Given the description of an element on the screen output the (x, y) to click on. 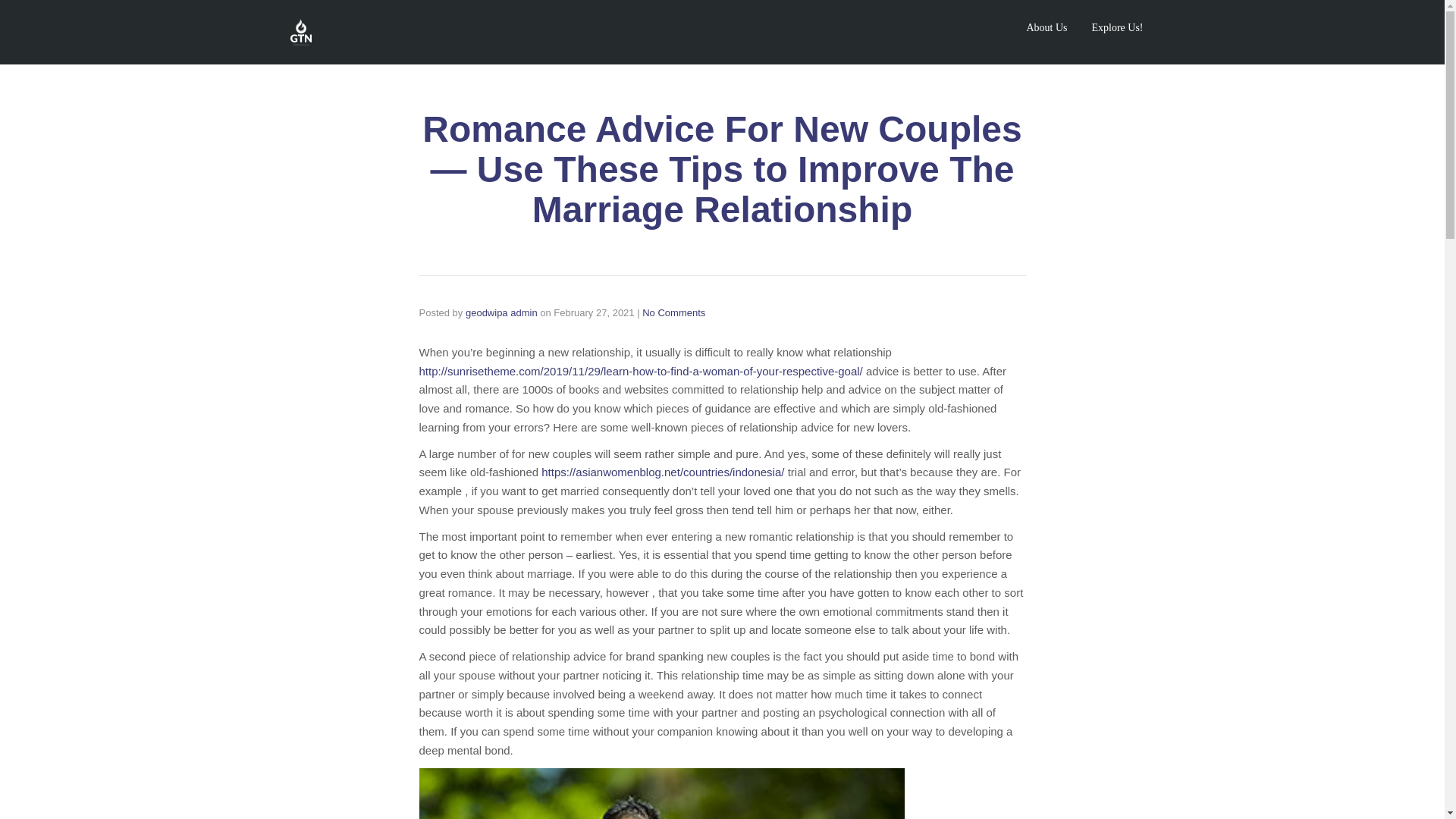
Posts by geodwipa admin (501, 312)
Explore Us! (1116, 27)
About Us (1046, 27)
